Given the description of an element on the screen output the (x, y) to click on. 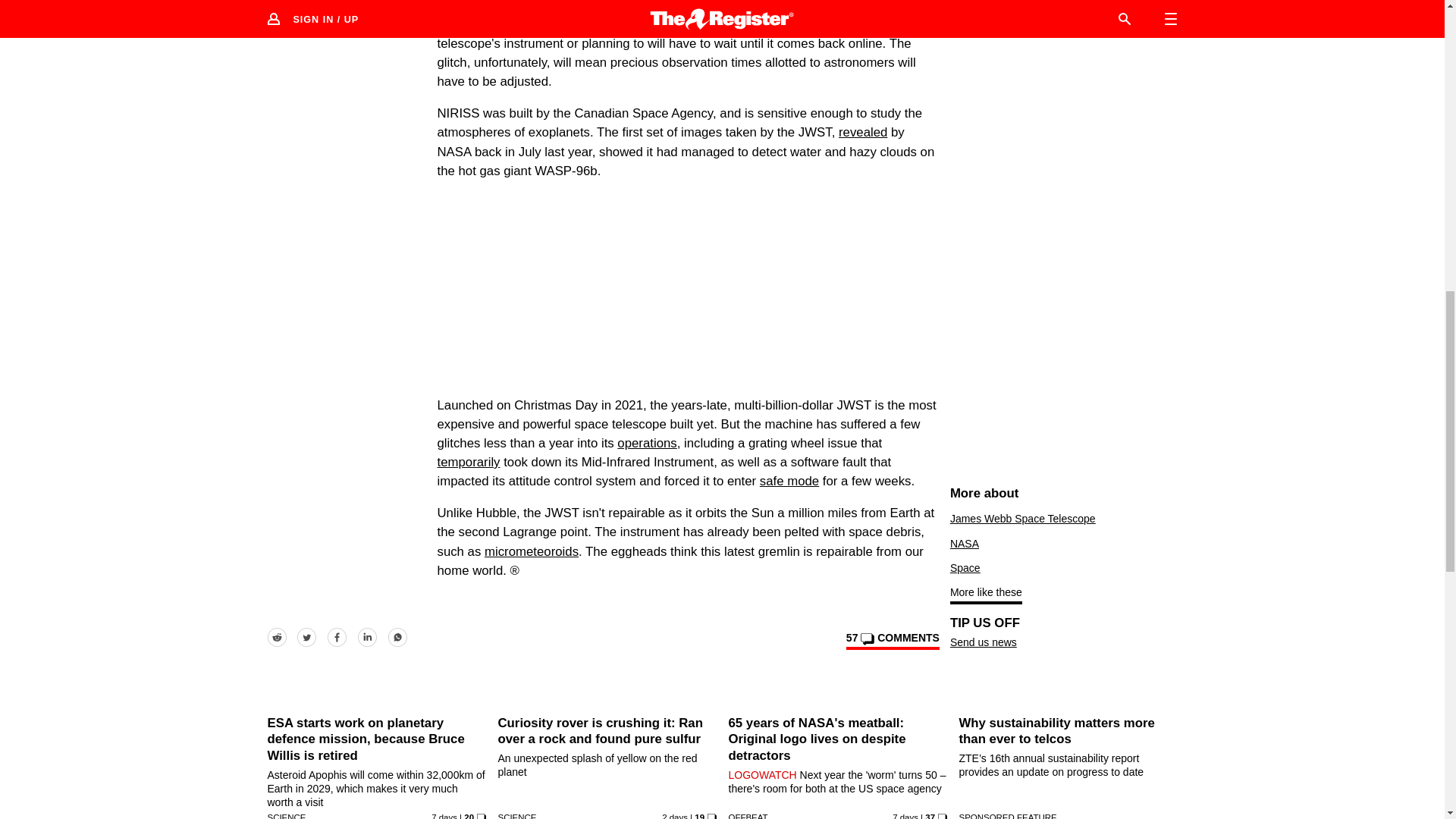
View comments on this article (892, 640)
22 Jul 2024 5:30 (674, 816)
16 Jul 2024 17:29 (905, 816)
17 Jul 2024 6:32 (443, 816)
